Given the description of an element on the screen output the (x, y) to click on. 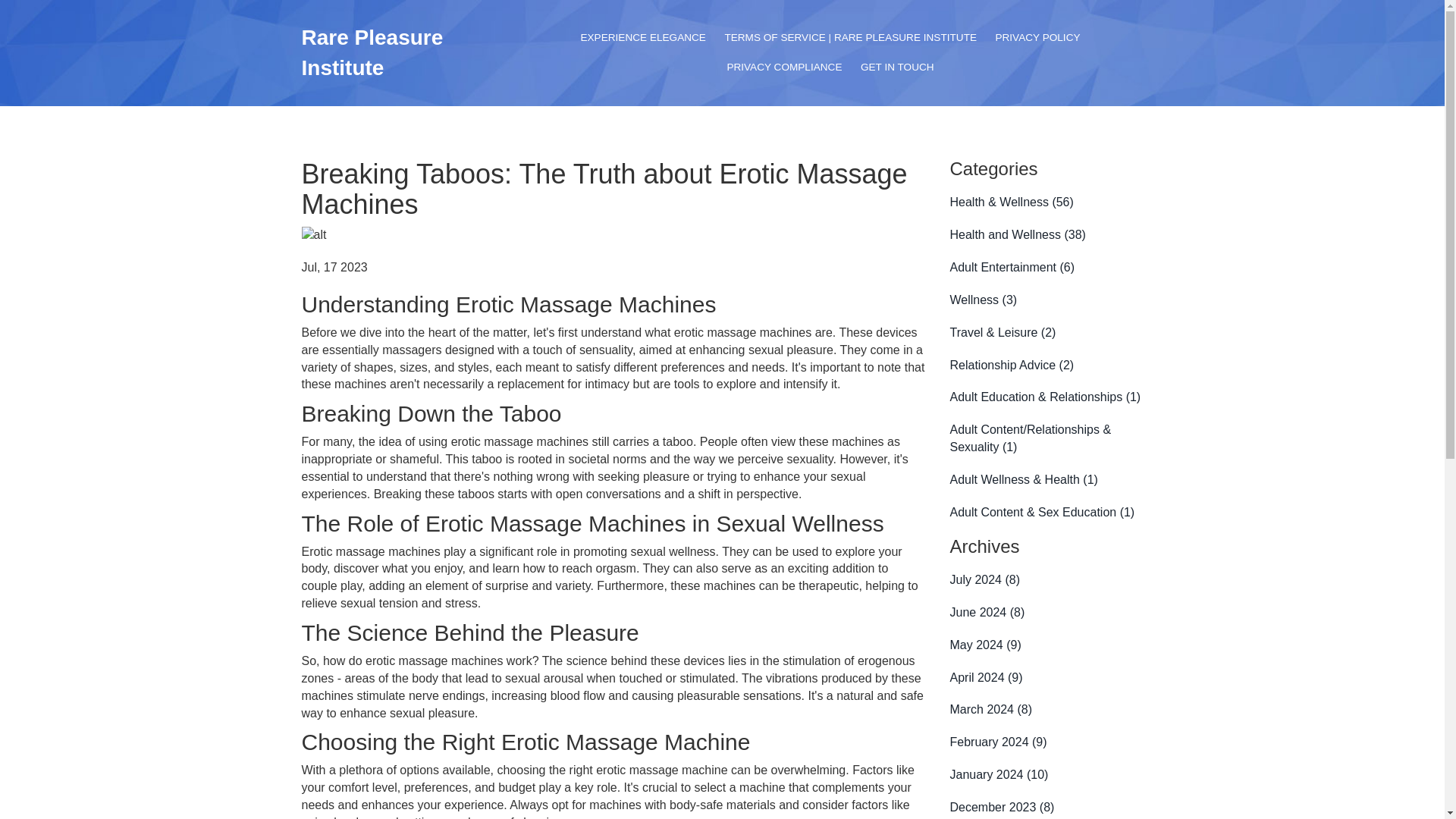
GET IN TOUCH (897, 66)
PRIVACY COMPLIANCE (783, 66)
PRIVACY POLICY (1037, 37)
EXPERIENCE ELEGANCE (642, 37)
Rare Pleasure Institute (372, 52)
